Given the description of an element on the screen output the (x, y) to click on. 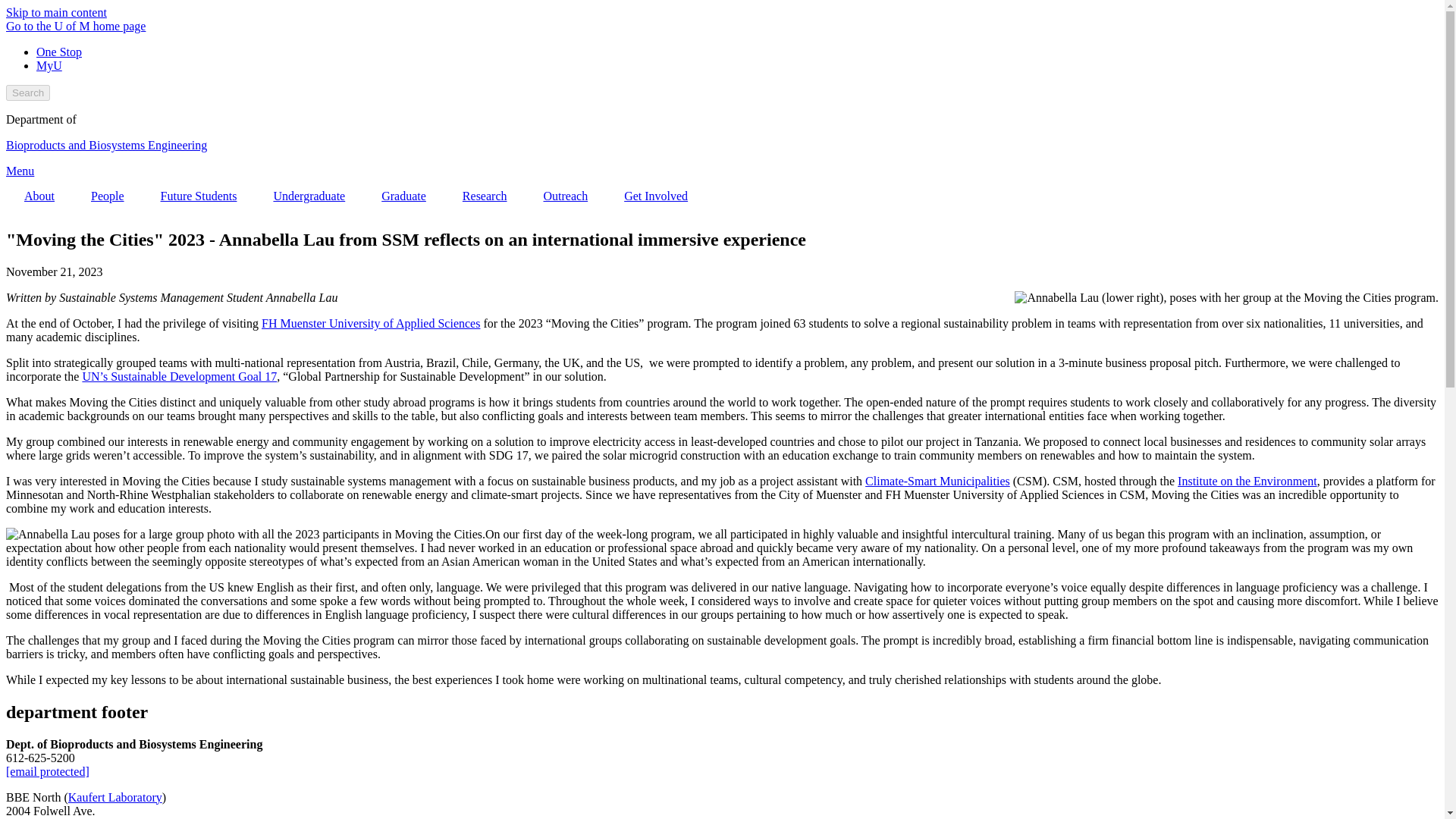
Menu (19, 170)
About (38, 196)
Bioproducts and Biosystems Engineering (105, 144)
Future Students (199, 196)
Search (27, 92)
Undergraduate (308, 196)
Go to the U of M home page (75, 25)
Skip to main content (55, 11)
People (107, 196)
MyU (49, 65)
